Given the description of an element on the screen output the (x, y) to click on. 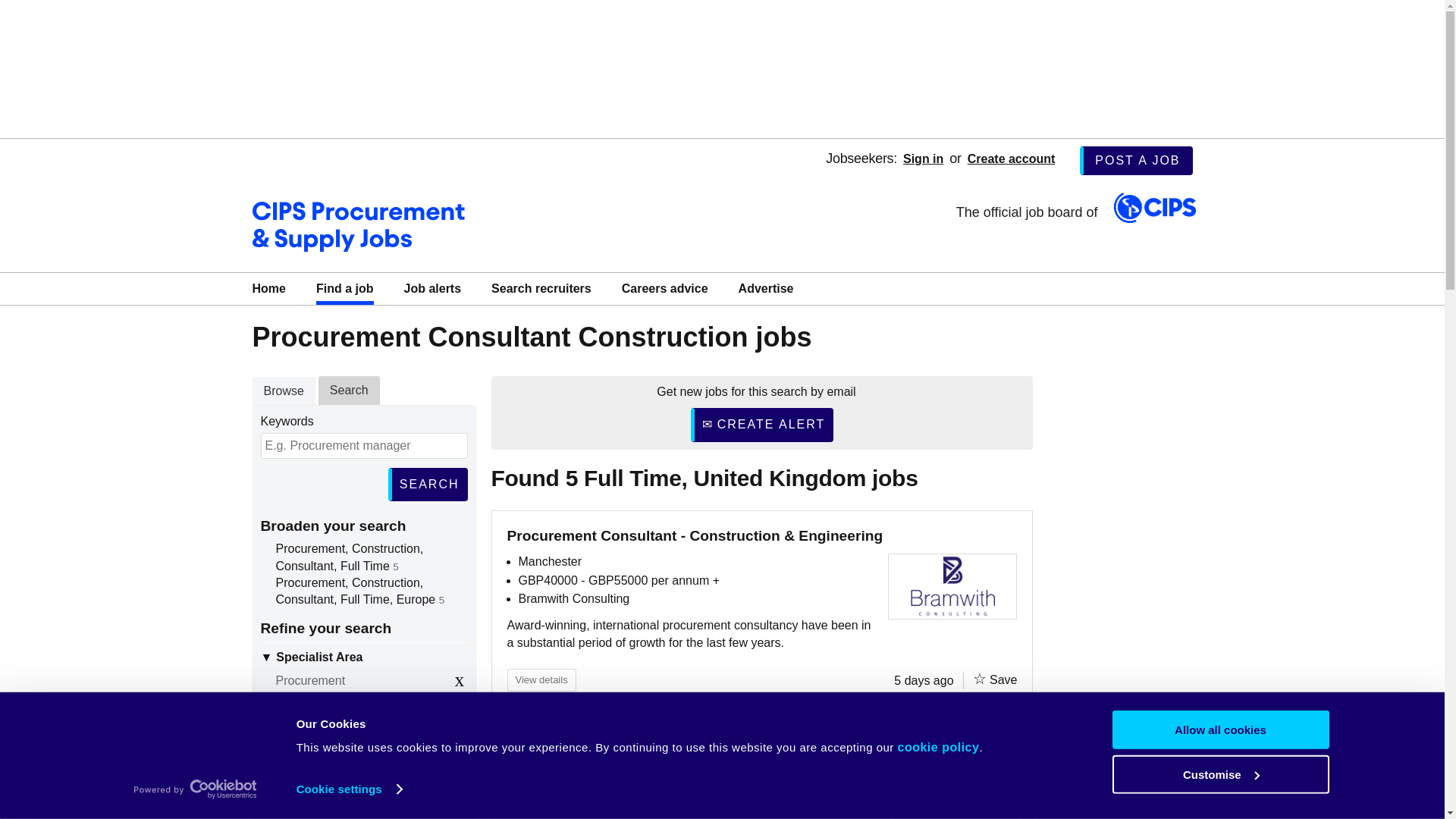
cookie (938, 747)
Search (427, 484)
Cookie settings (349, 789)
cookie policy (938, 747)
